Given the description of an element on the screen output the (x, y) to click on. 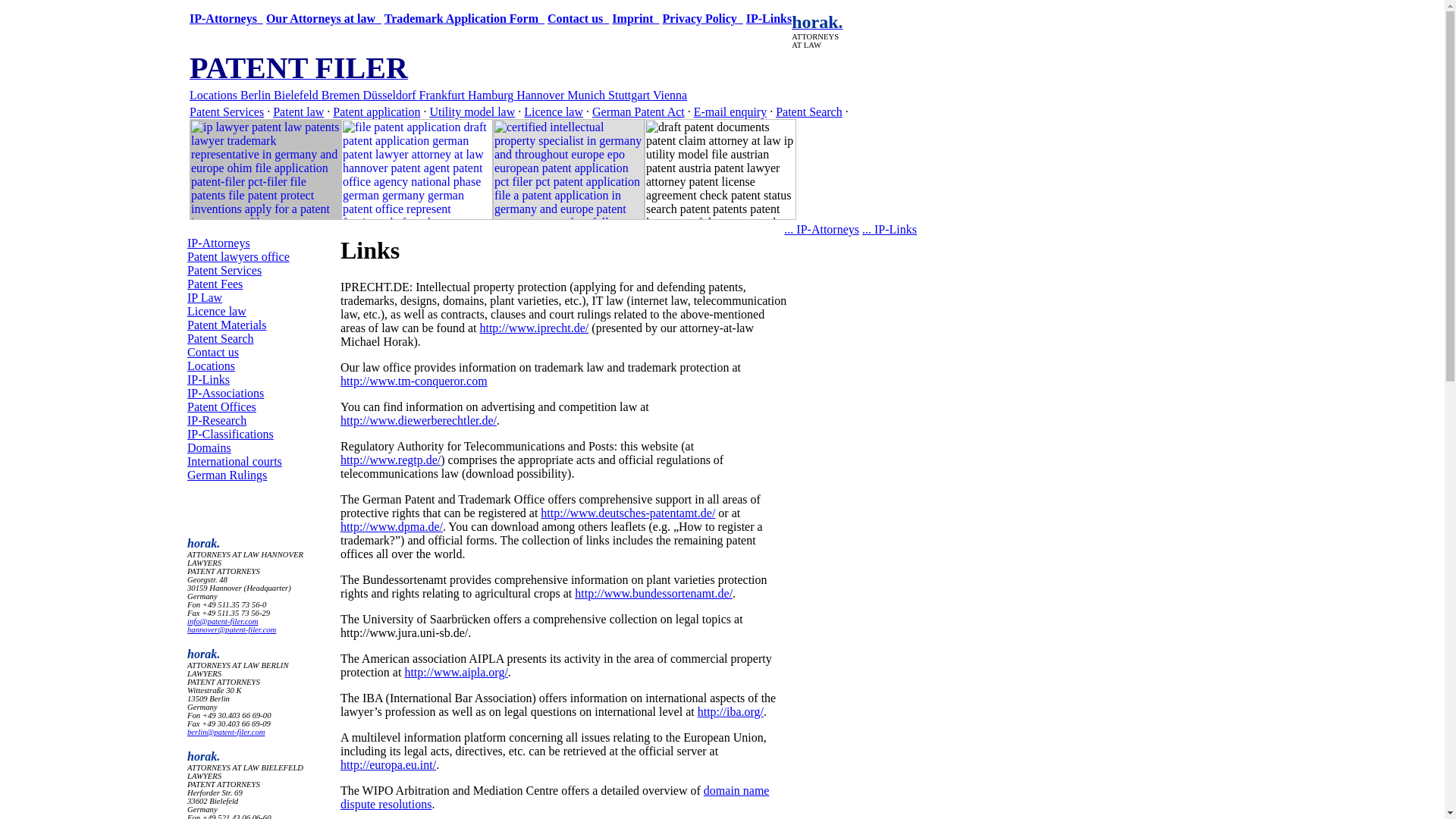
Stuttgart (630, 94)
IP-Attorneys (218, 242)
Hamburg (491, 94)
... IP-Attorneys (821, 228)
German Patent Act (638, 111)
Patent Services (224, 269)
Bielefeld (297, 94)
horak. (817, 23)
Patent application (376, 111)
